Given the description of an element on the screen output the (x, y) to click on. 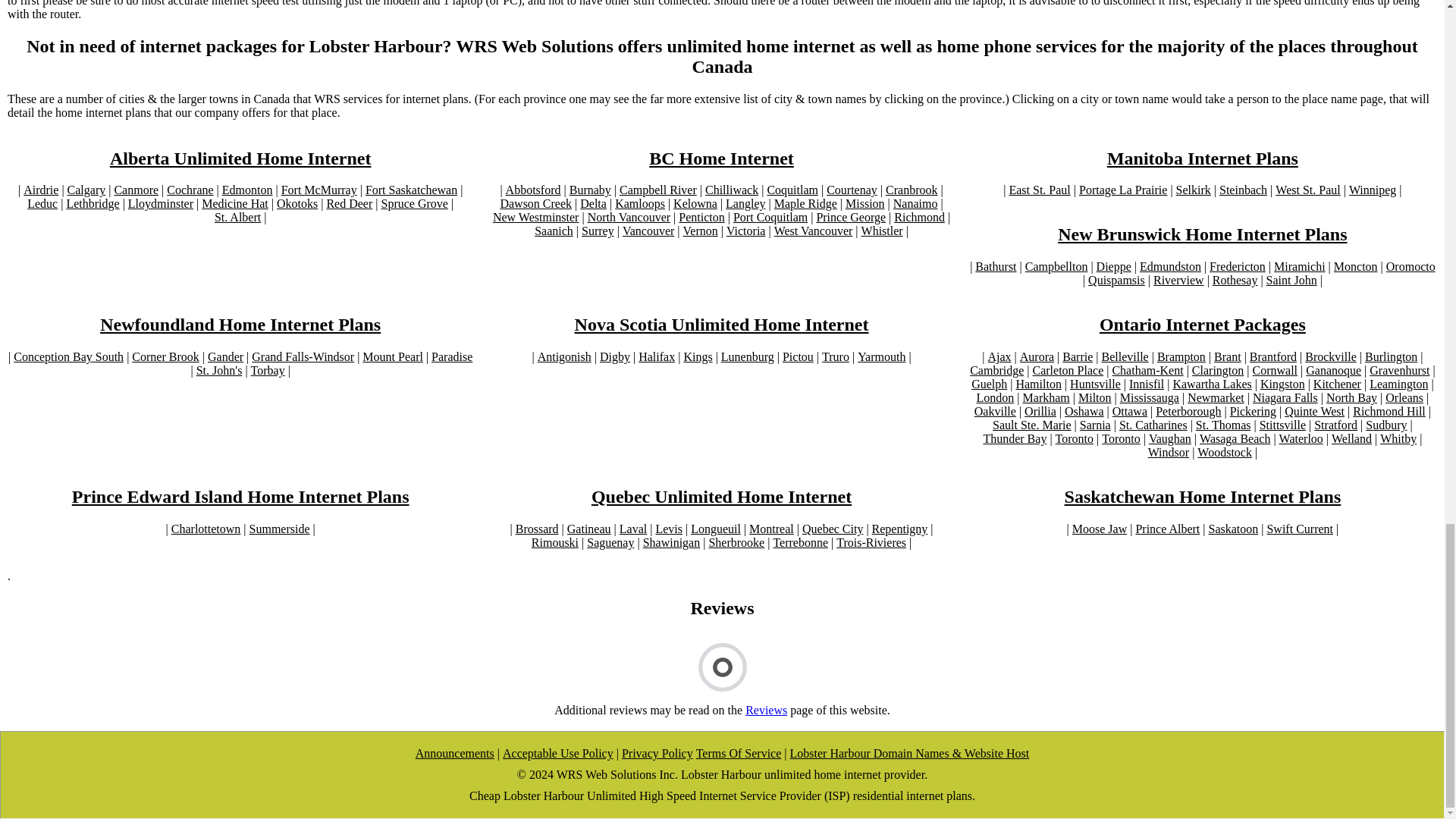
Fort McMurray (318, 190)
Cochrane (189, 190)
Fort Saskatchewan (411, 190)
Burnaby (590, 190)
Coquitlam (792, 190)
Canmore (135, 190)
Lloydminster (160, 203)
Campbell River (658, 190)
St. Albert (237, 217)
Medicine Hat (234, 203)
